Given the description of an element on the screen output the (x, y) to click on. 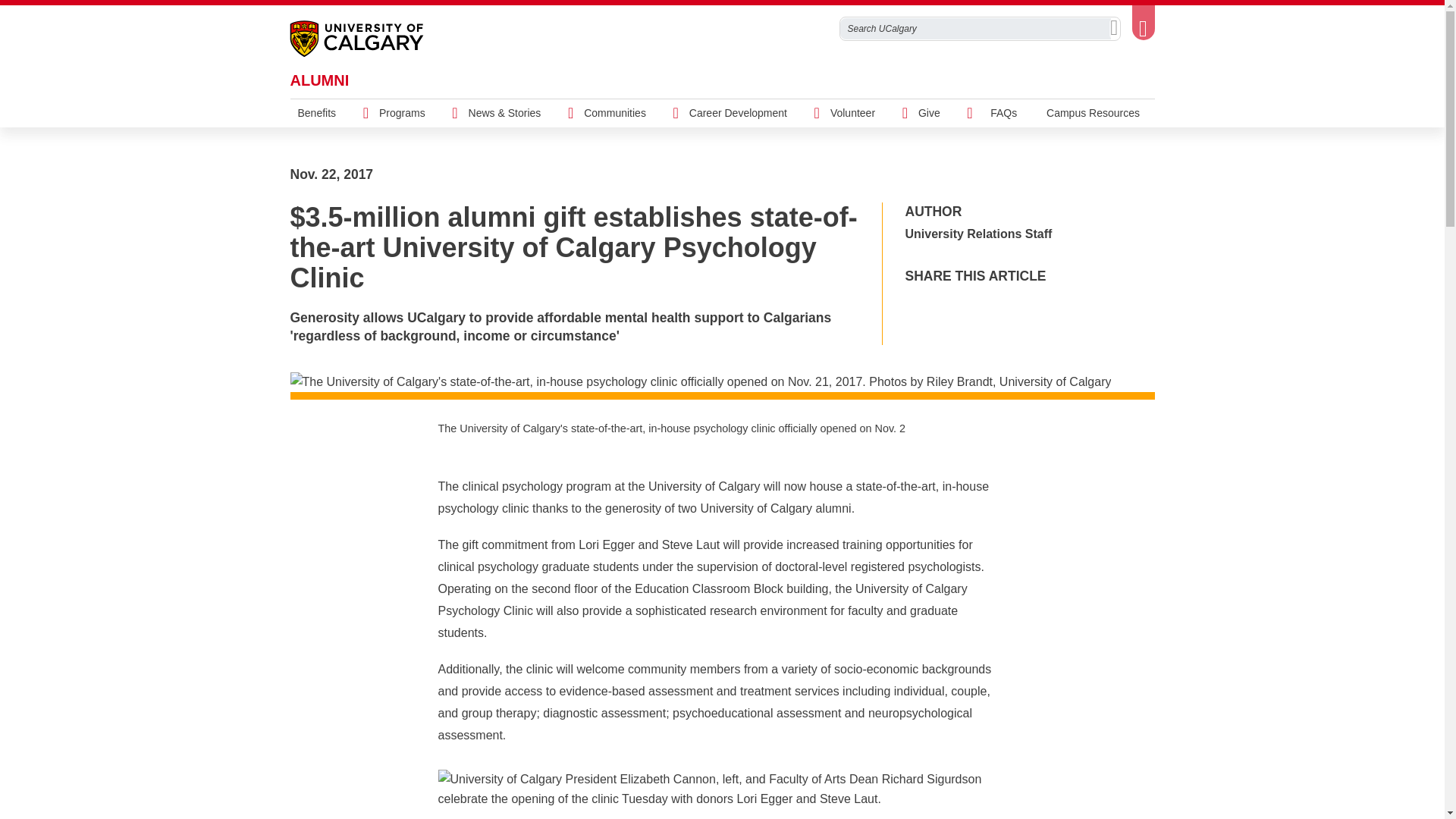
ALUMNI (319, 80)
